Given the description of an element on the screen output the (x, y) to click on. 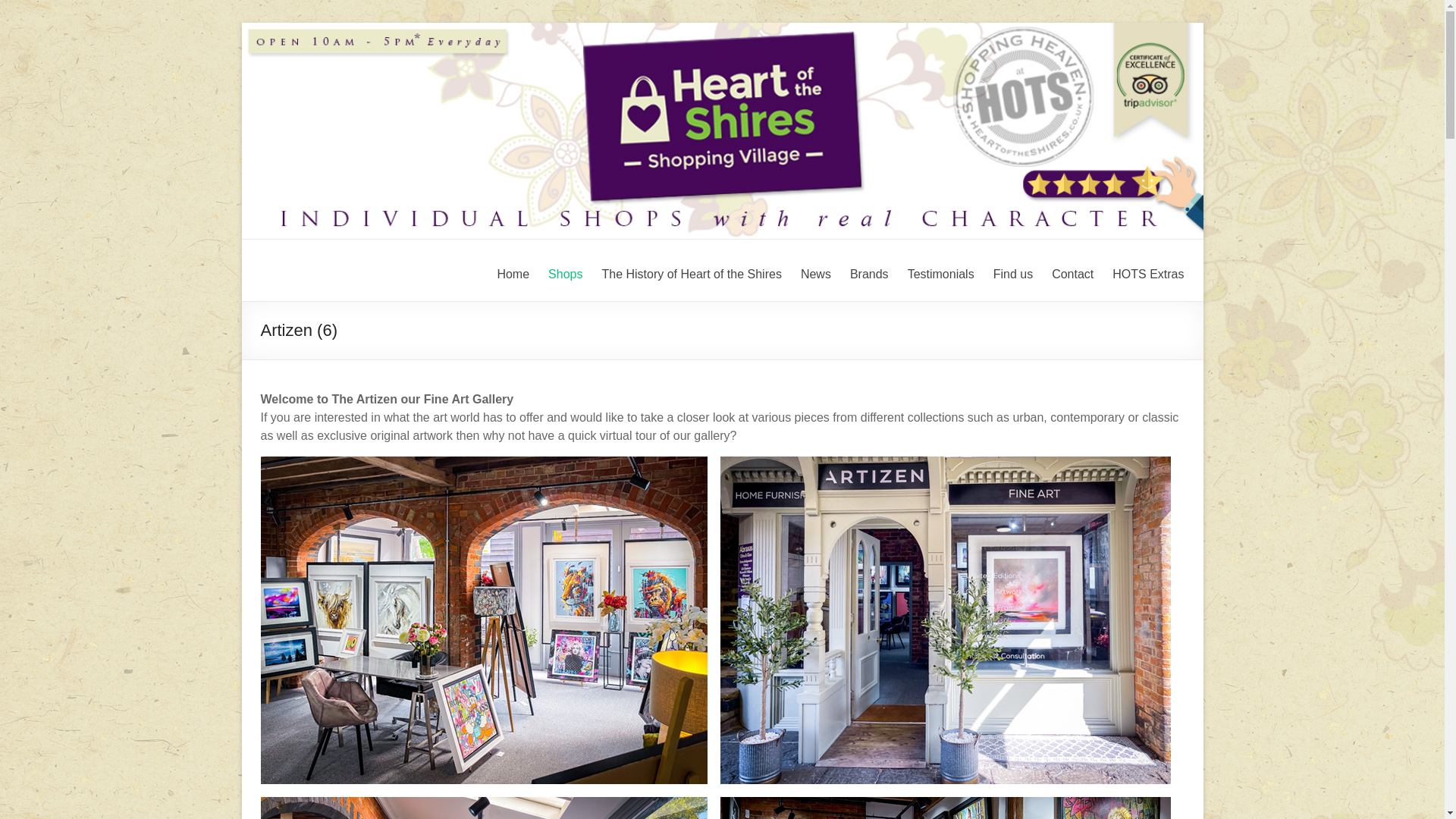
Shops (565, 271)
Brands (869, 271)
The History of Heart of the Shires (690, 271)
Find us (1012, 271)
Testimonials (940, 271)
Contact (1072, 271)
Home (512, 271)
HOTS Extras (1147, 271)
